Given the description of an element on the screen output the (x, y) to click on. 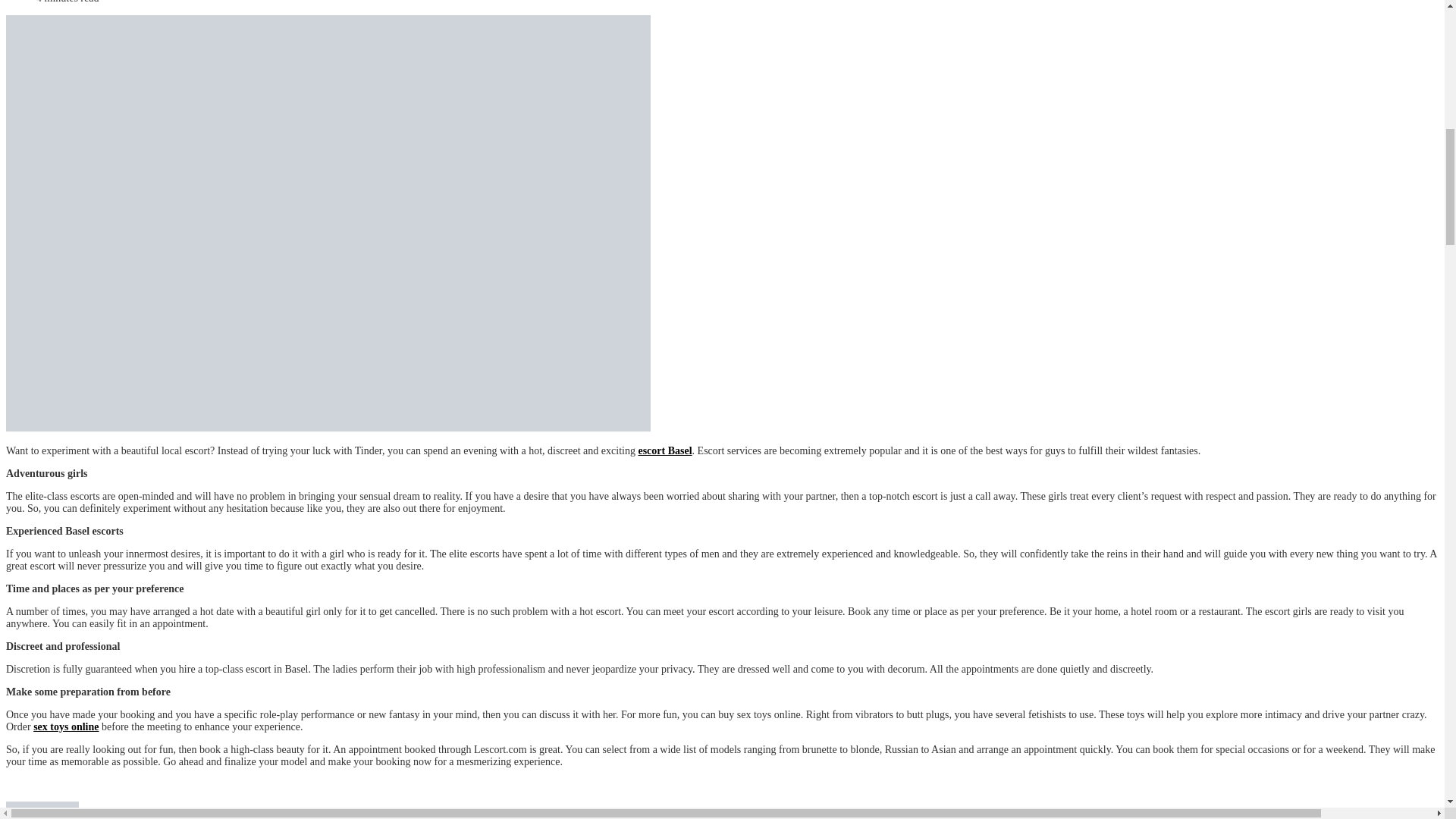
sex toys online (66, 726)
escort Basel (664, 450)
